Given the description of an element on the screen output the (x, y) to click on. 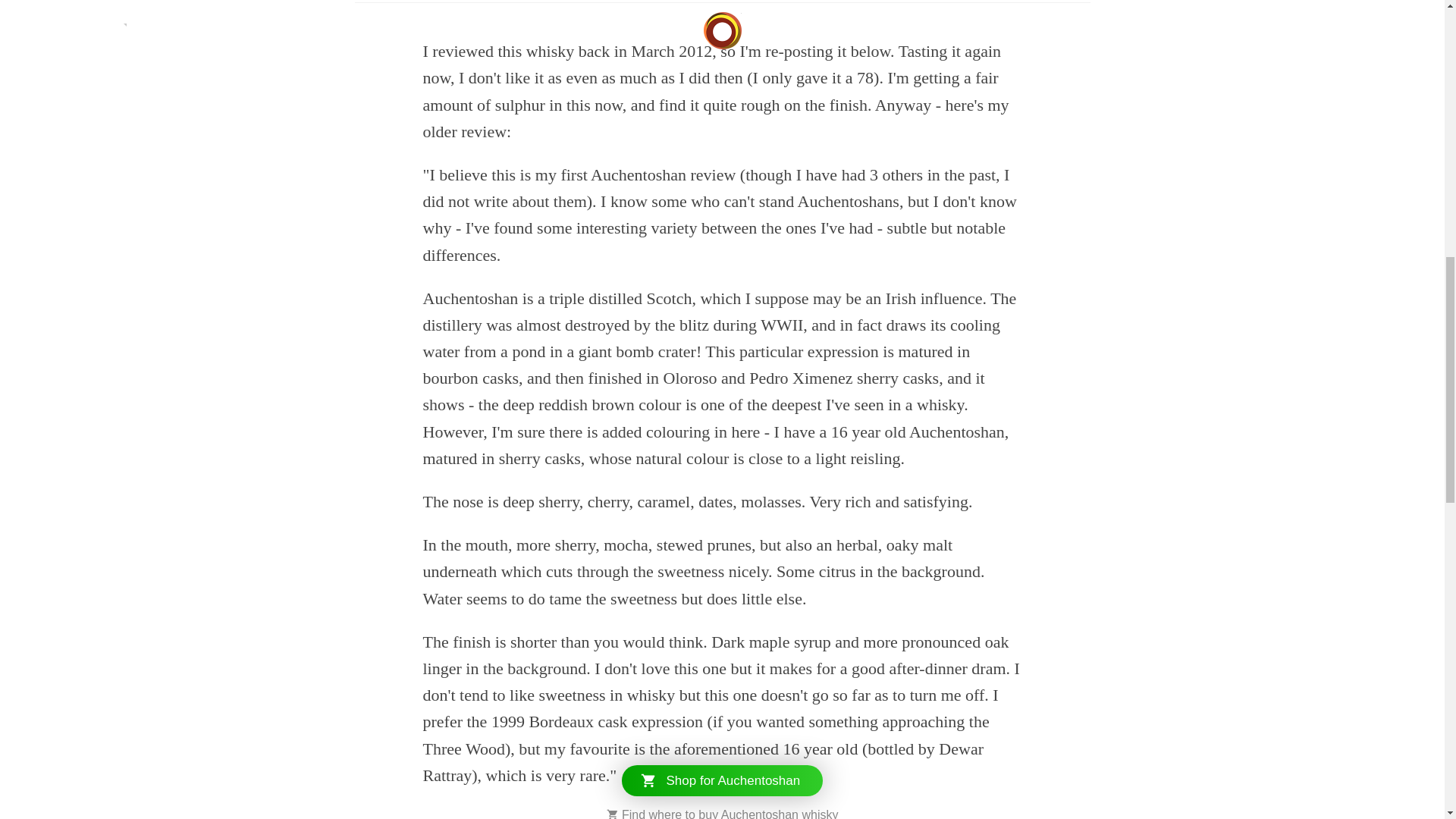
buy Auchentoshan whisky (768, 813)
